Given the description of an element on the screen output the (x, y) to click on. 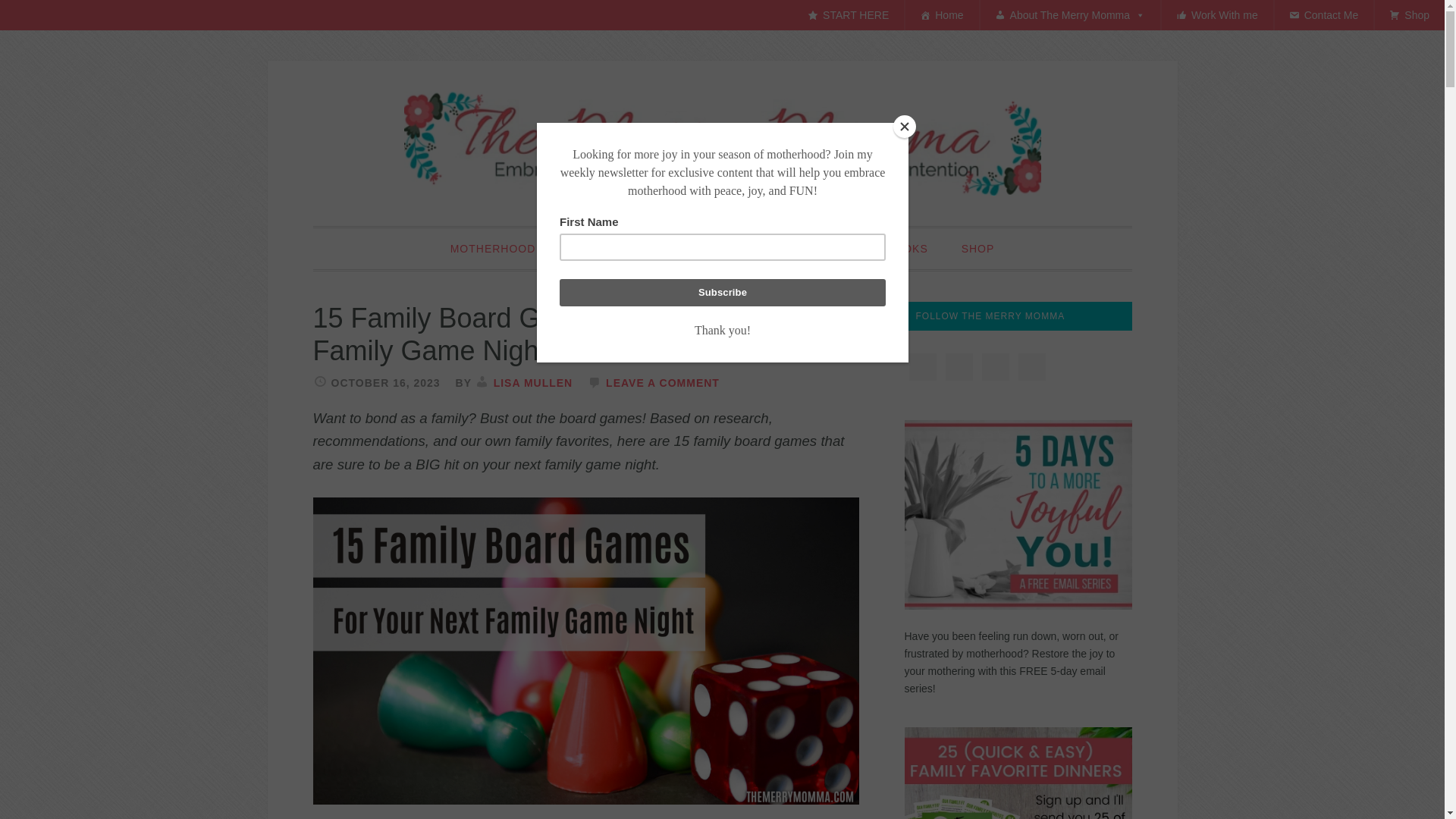
THE MERRY MOMMA (722, 142)
LEAVE A COMMENT (662, 382)
HOMEMAKING (812, 248)
Work With me (1216, 15)
FAMILY (589, 248)
KIDS (657, 248)
About The Merry Momma (1069, 15)
LISA MULLEN (533, 382)
FOOD (720, 248)
START HERE (848, 15)
SHOP (978, 248)
BOOKS (906, 248)
Home (941, 15)
MOTHERHOOD (493, 248)
Contact Me (1324, 15)
